Given the description of an element on the screen output the (x, y) to click on. 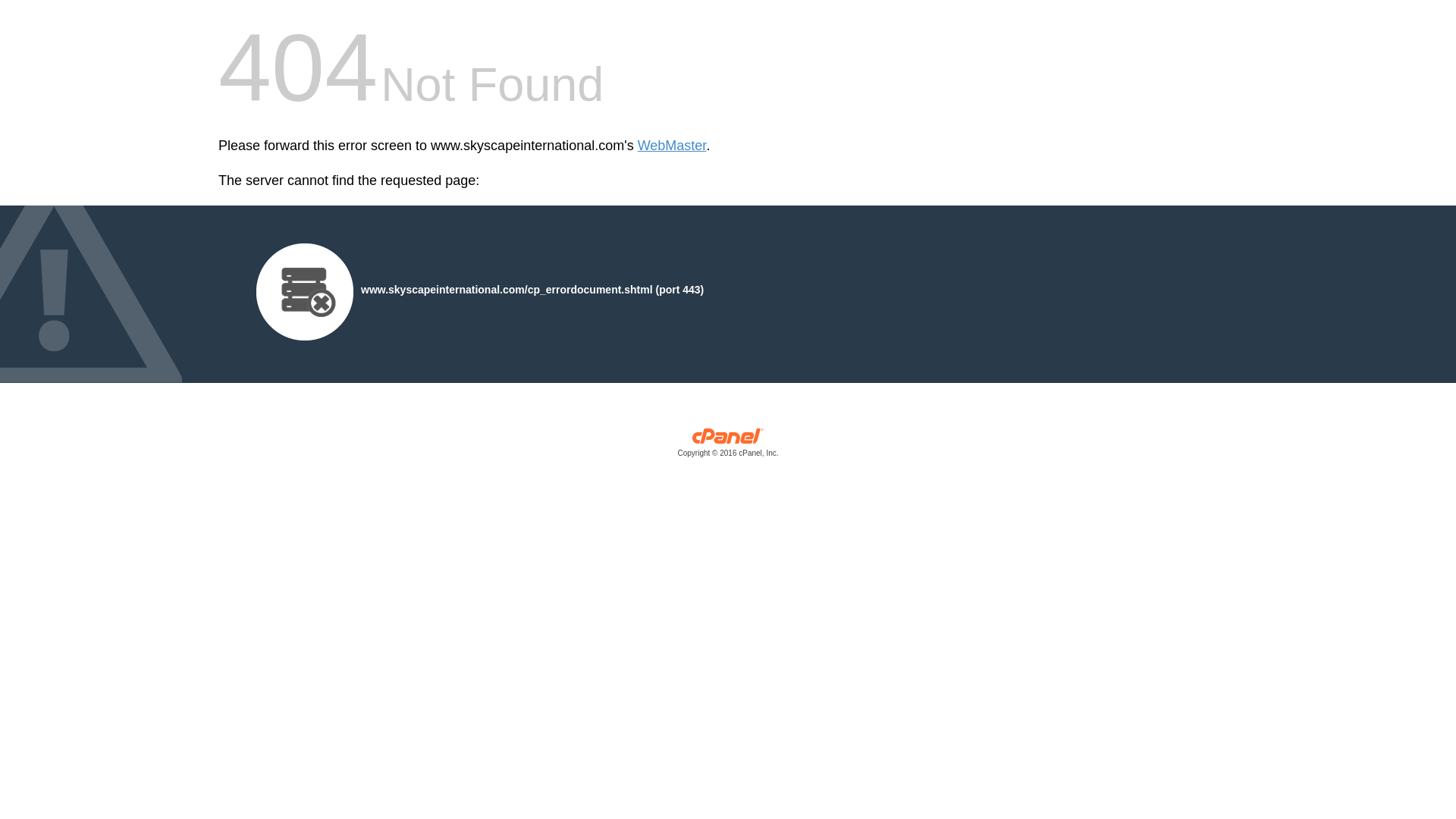
WebMaster (671, 145)
cPanel, Inc. (727, 446)
